Given the description of an element on the screen output the (x, y) to click on. 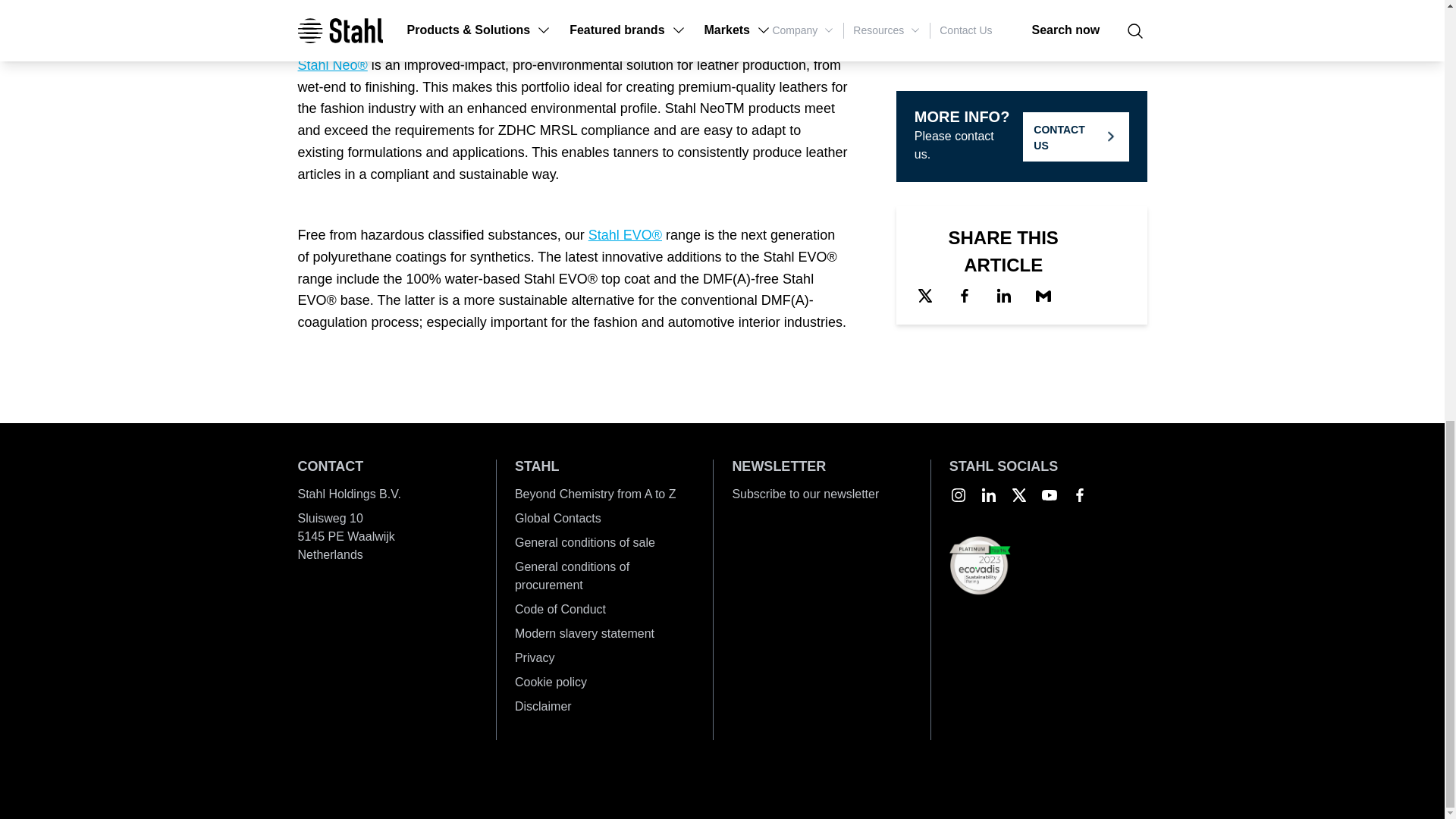
Cookie policy (604, 682)
Disclaimer (604, 706)
Code of Conduct (604, 609)
Modern slavery statement (604, 633)
Global Contacts (604, 518)
Privacy (604, 658)
General conditions of sale (604, 542)
Beyond Chemistry from A to Z (604, 494)
General conditions of procurement (604, 575)
